Given the description of an element on the screen output the (x, y) to click on. 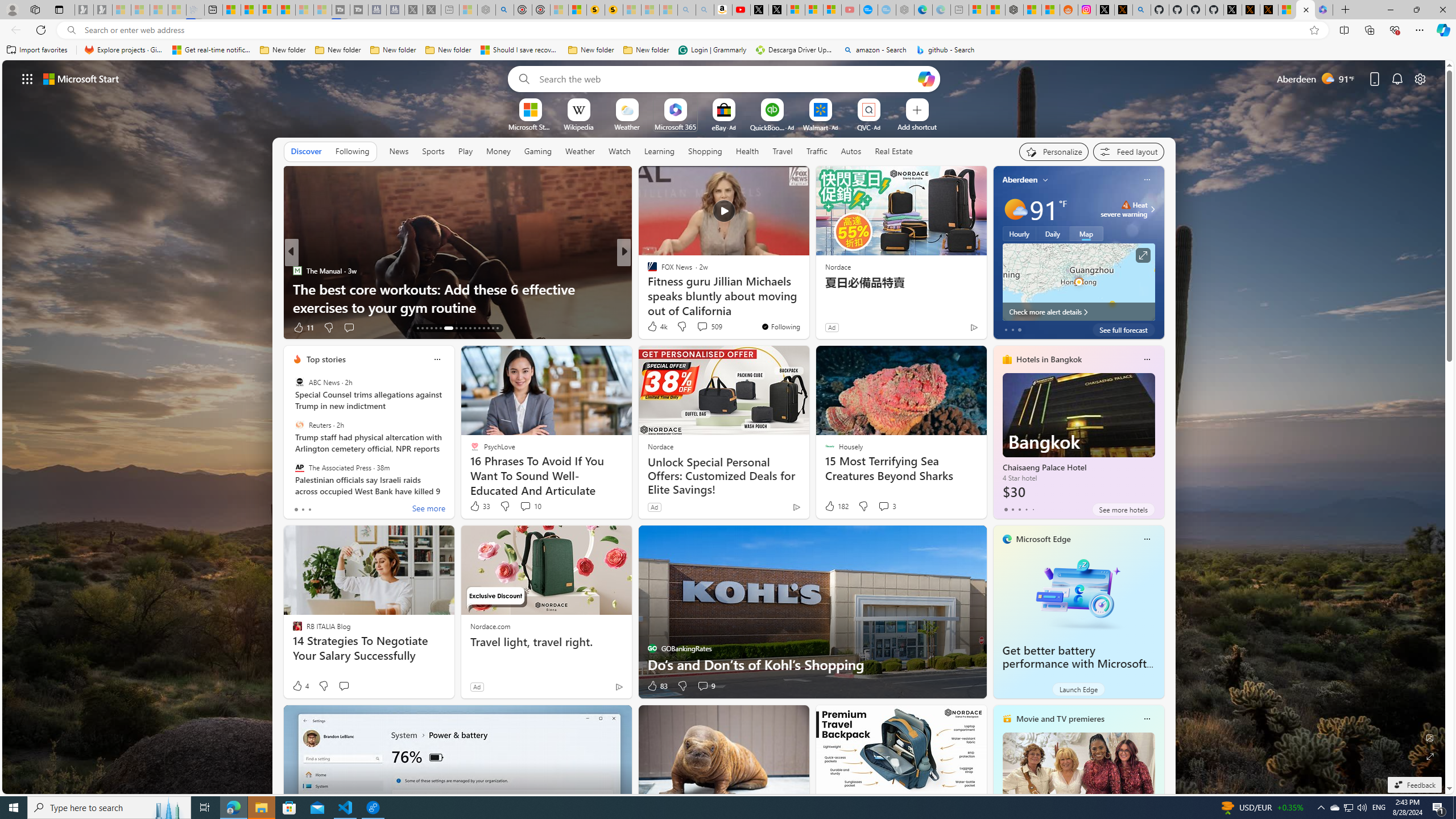
View comments 42 Comment (6, 327)
Nordace.com (490, 625)
AutomationID: tab-18 (440, 328)
Personalize your feed" (1054, 151)
Shanghai, China Weather trends | Microsoft Weather (1050, 9)
Dislike (682, 685)
Learning (659, 151)
Discover Magazine (647, 270)
tab-4 (1032, 509)
Login | Grammarly (712, 49)
Larger map  (1077, 282)
